Given the description of an element on the screen output the (x, y) to click on. 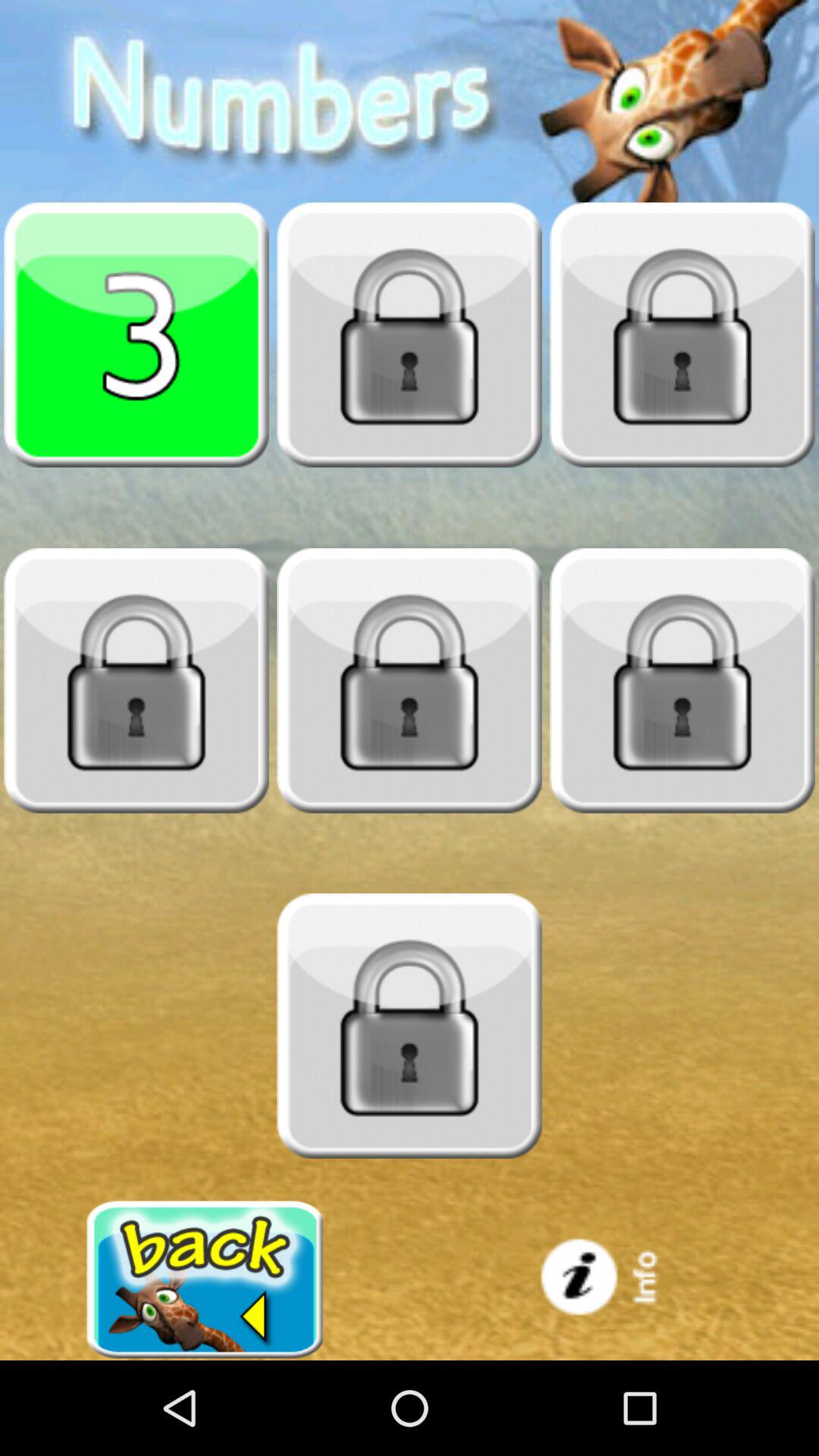
go to level (682, 334)
